Given the description of an element on the screen output the (x, y) to click on. 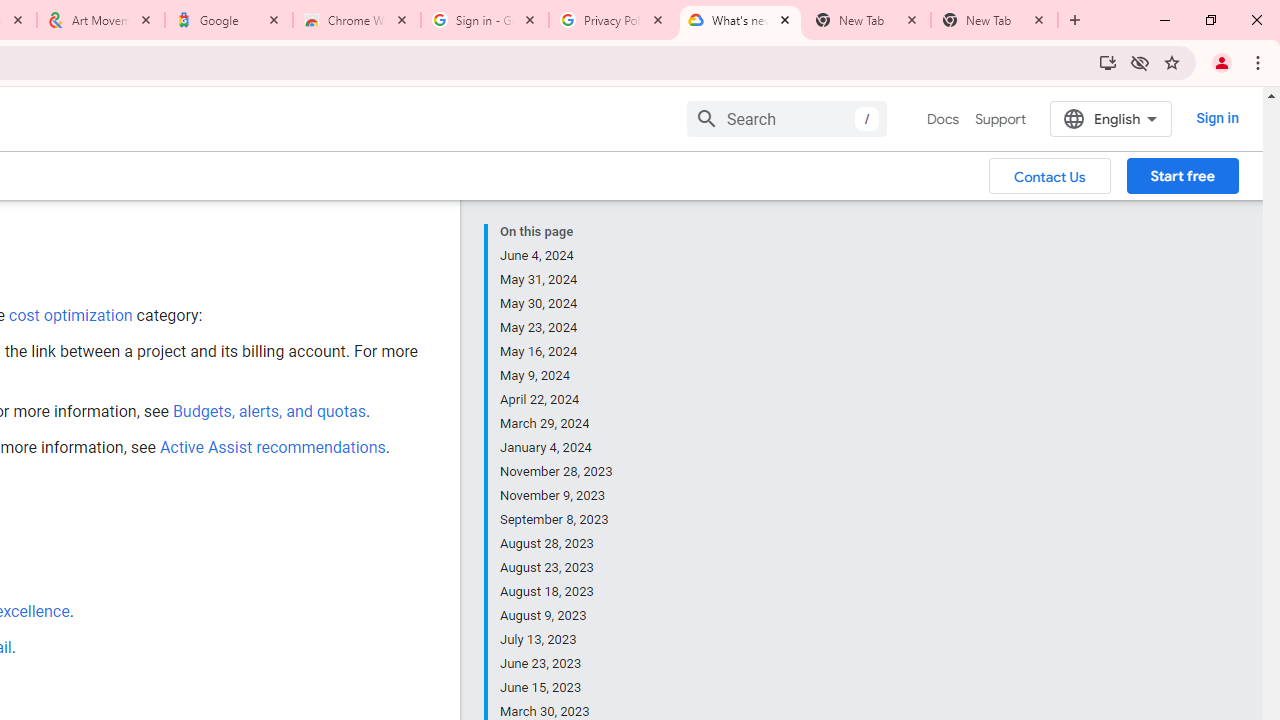
November 28, 2023 (557, 471)
June 4, 2024 (557, 255)
January 4, 2024 (557, 448)
June 15, 2023 (557, 687)
New Tab (994, 20)
August 18, 2023 (557, 592)
August 23, 2023 (557, 567)
April 22, 2024 (557, 399)
May 30, 2024 (557, 304)
March 29, 2024 (557, 423)
Sign in - Google Accounts (485, 20)
